Given the description of an element on the screen output the (x, y) to click on. 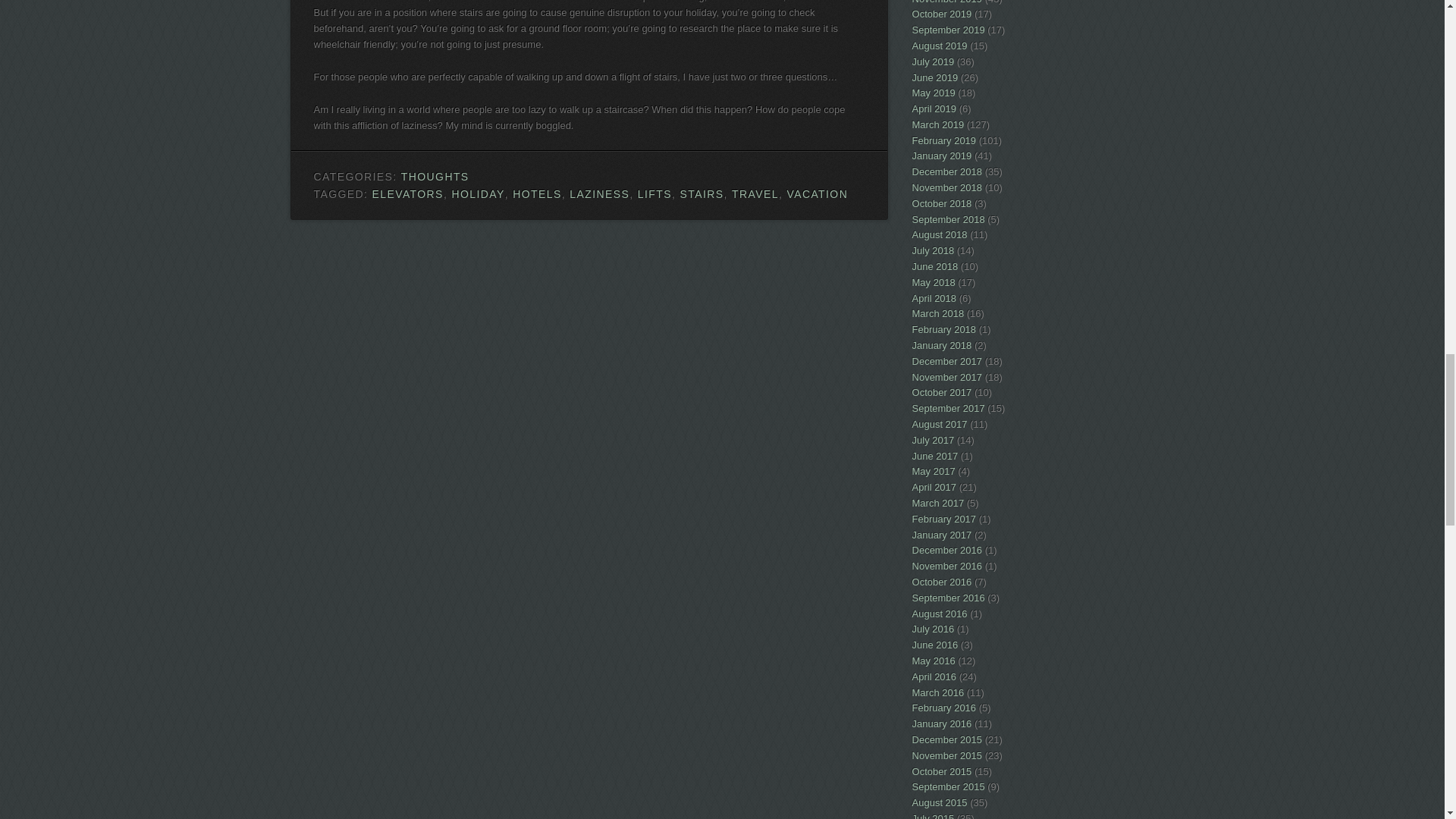
HOTELS (536, 193)
ELEVATORS (408, 193)
THOUGHTS (434, 176)
LAZINESS (598, 193)
HOLIDAY (477, 193)
VACATION (816, 193)
LIFTS (654, 193)
STAIRS (701, 193)
TRAVEL (755, 193)
